Given the description of an element on the screen output the (x, y) to click on. 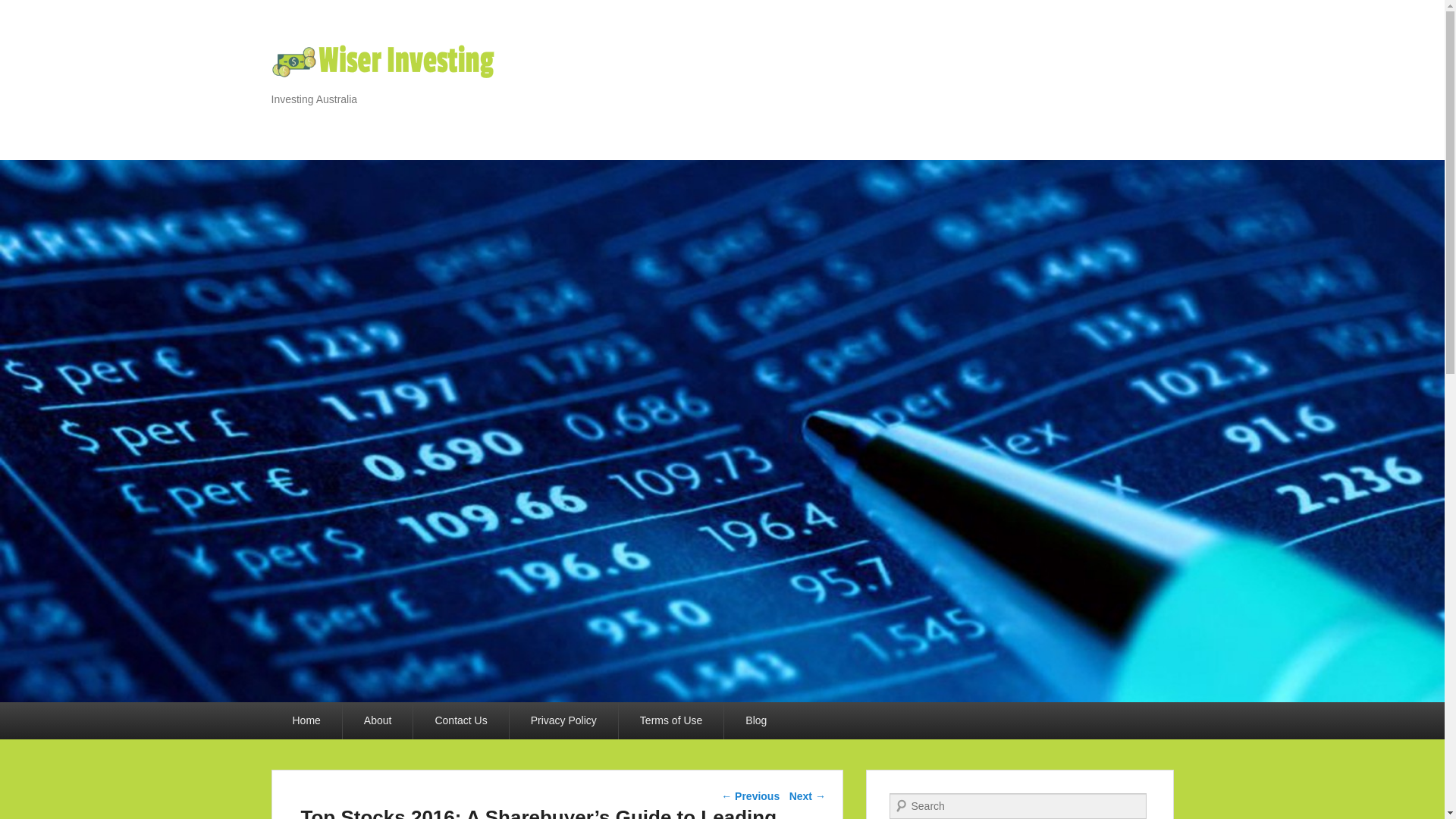
About (377, 720)
Terms of Use (670, 720)
Blog (755, 720)
Privacy Policy (563, 720)
Search (21, 11)
Home (306, 720)
Contact Us (460, 720)
